Given the description of an element on the screen output the (x, y) to click on. 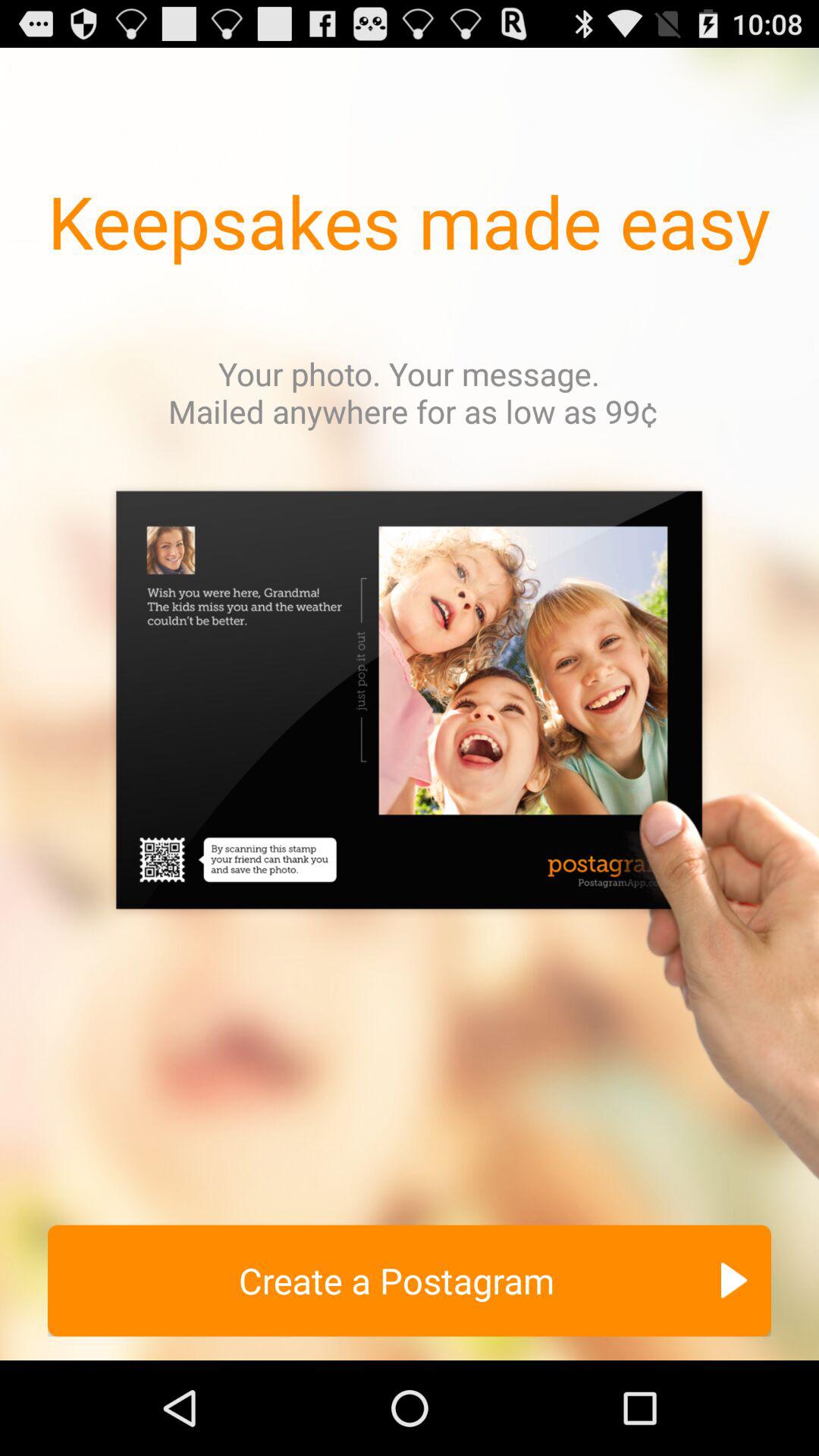
photo (409, 840)
